Given the description of an element on the screen output the (x, y) to click on. 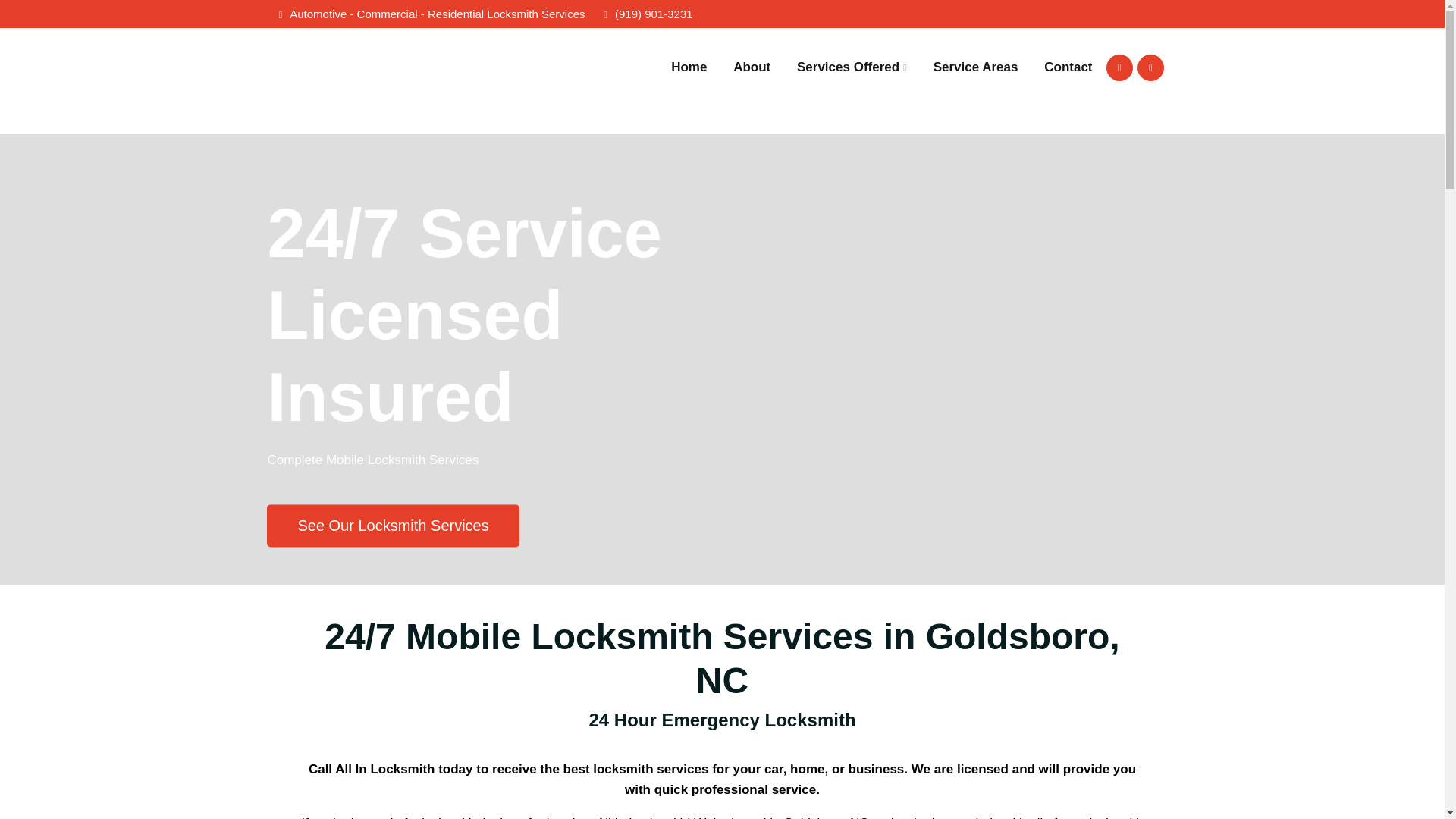
Home (688, 66)
All In Locksmith LLC (381, 86)
See Our Locksmith Services (392, 526)
Contact (1067, 66)
Services Offered (851, 66)
About (751, 66)
Service Areas (975, 66)
Instagram (1150, 66)
Facebook-f (1119, 66)
